Given the description of an element on the screen output the (x, y) to click on. 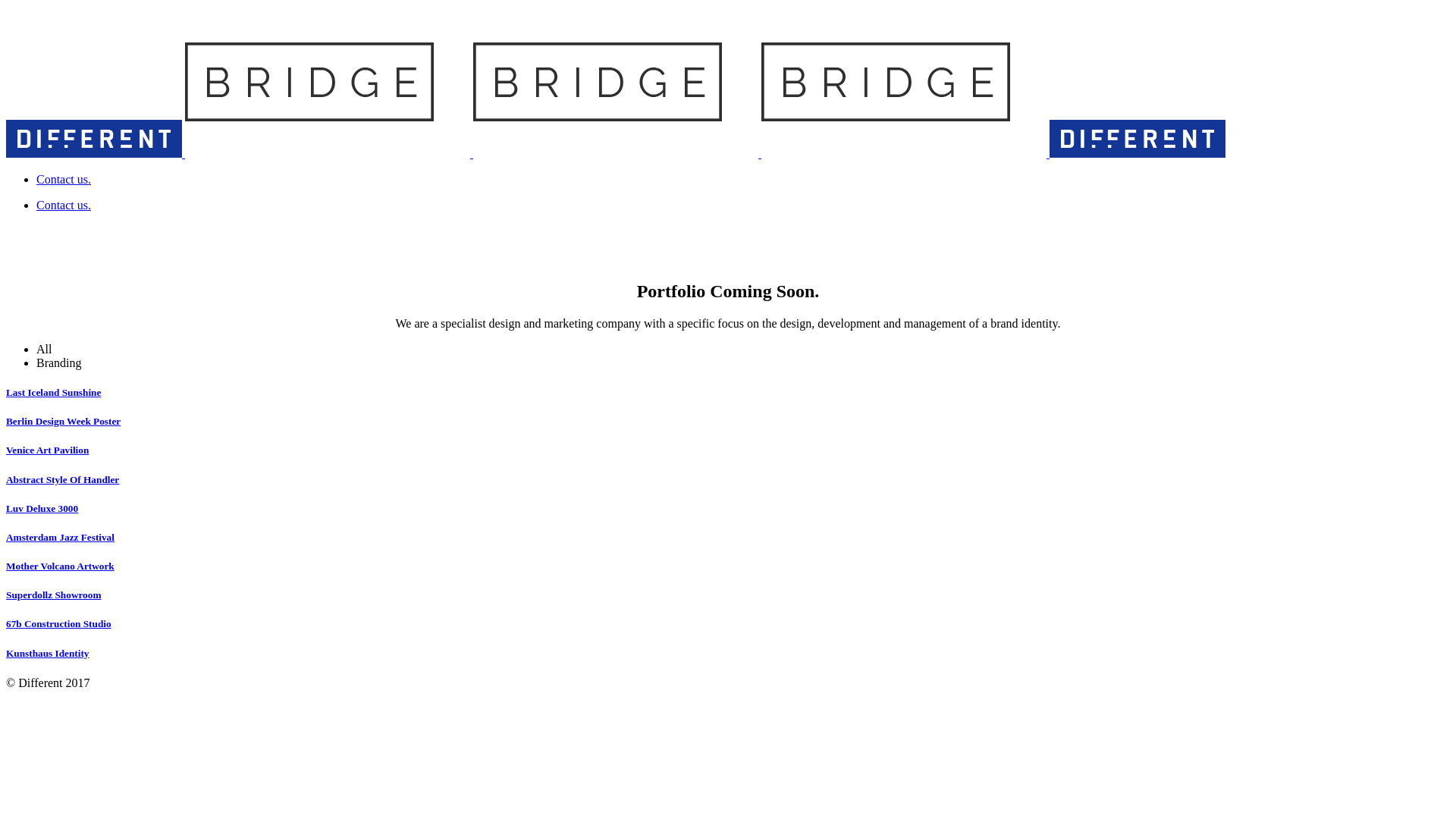
Luv Deluxe 3000 Element type: text (42, 508)
Contact us. Element type: text (63, 178)
Venice Art Pavilion Element type: text (47, 449)
Abstract Style Of Handler Element type: text (62, 478)
Last Iceland Sunshine Element type: text (53, 392)
Contact us. Element type: text (63, 204)
67b Construction Studio Element type: text (58, 623)
Superdollz Showroom Element type: text (53, 594)
Mother Volcano Artwork Element type: text (60, 565)
Amsterdam Jazz Festival Element type: text (60, 536)
Berlin Design Week Poster Element type: text (63, 420)
Kunsthaus Identity Element type: text (47, 652)
